Given the description of an element on the screen output the (x, y) to click on. 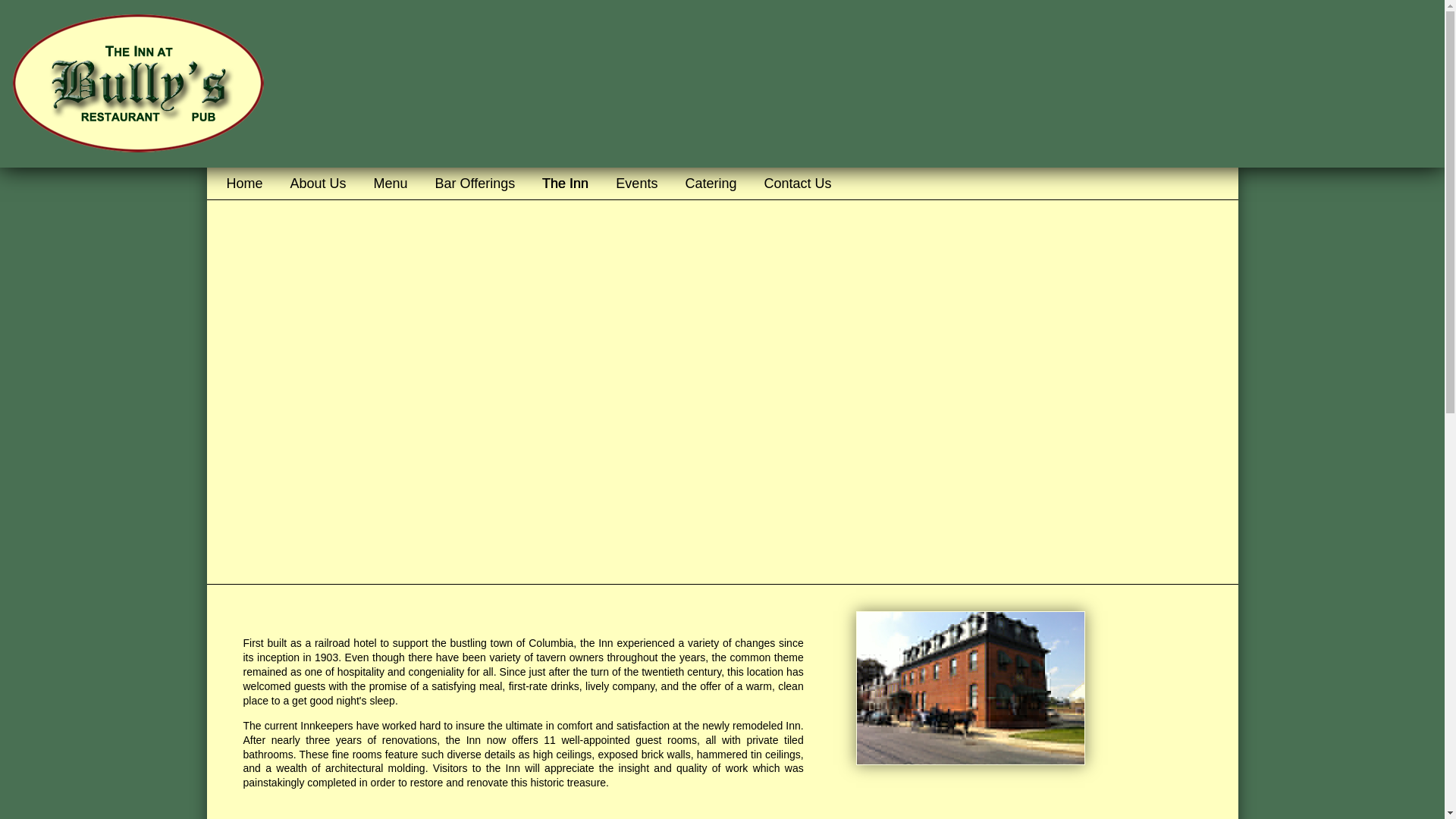
Home (244, 183)
Contact Us (796, 183)
Catering (710, 183)
The Inn (565, 183)
Bar Offerings (475, 183)
About Us (317, 183)
Events (636, 183)
Menu (390, 183)
